Given the description of an element on the screen output the (x, y) to click on. 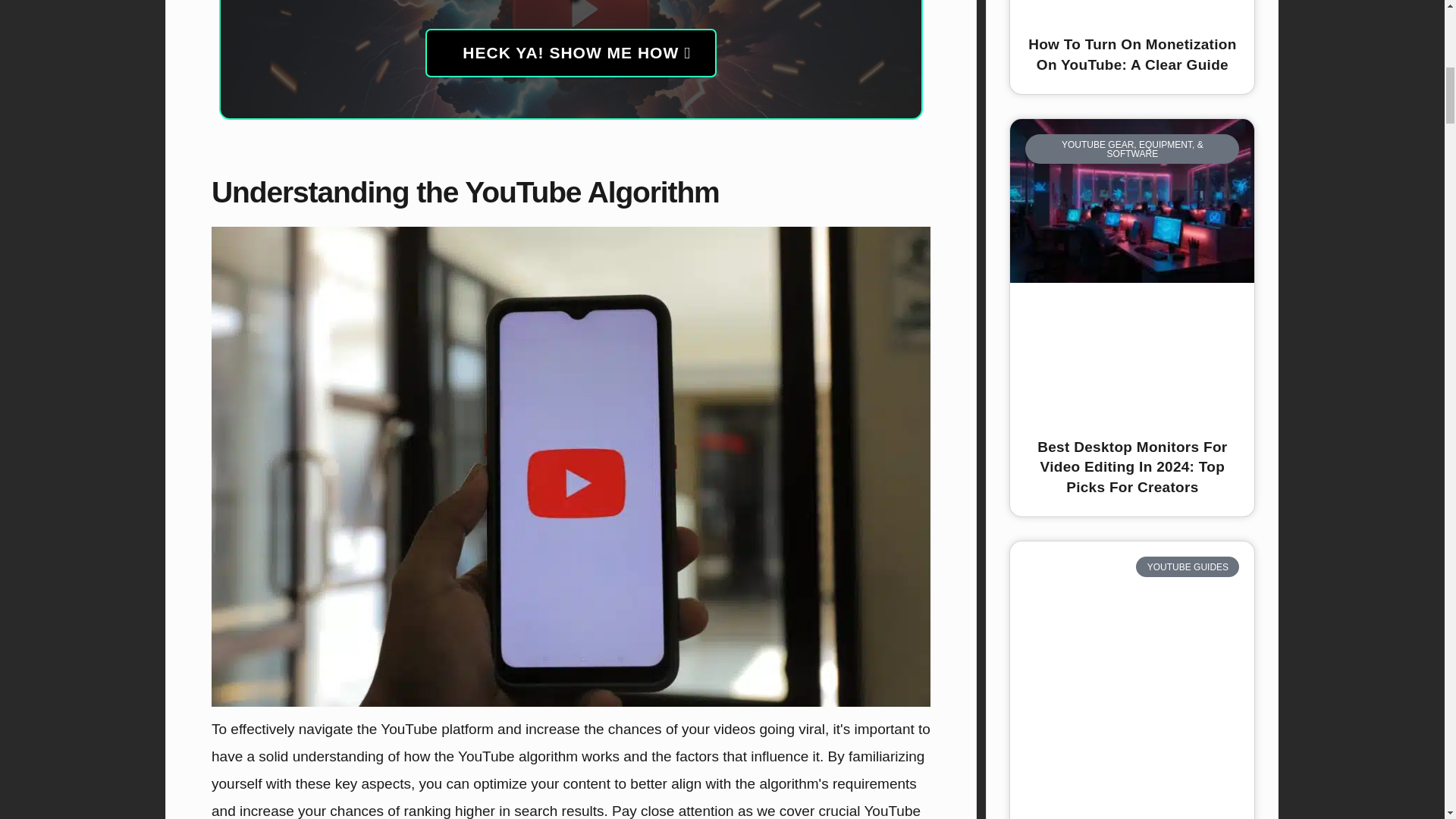
HECK YA! SHOW ME HOW (570, 52)
How To Turn On Monetization On YouTube: A Clear Guide (1131, 54)
